Given the description of an element on the screen output the (x, y) to click on. 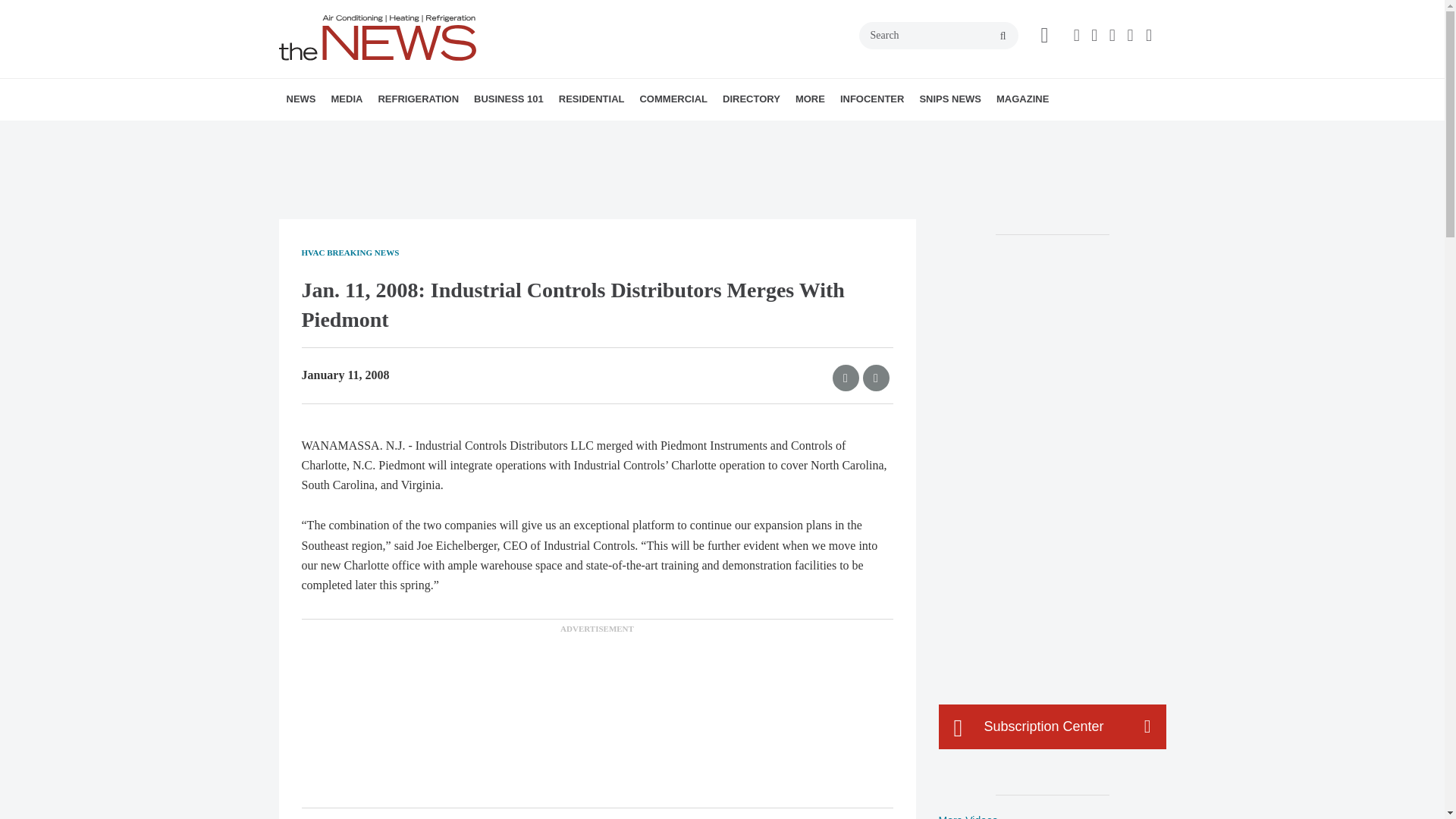
FROSTLINES (478, 132)
MEDIA (346, 98)
REFRIGERANTS (464, 132)
BREAKING NEWS (373, 132)
HVAC DATA (391, 132)
PODCASTS (430, 132)
THE NEWS HVACR QUIZ (445, 132)
MANUFACTURER REPORTS (386, 132)
REFRIGERANT REGULATIONS (472, 132)
Search (938, 35)
DUCTWORD PUZZLE (449, 132)
VIDEOS (417, 132)
WEBINARS (436, 132)
NEWS (301, 98)
BUSINESS 101 (508, 98)
